Given the description of an element on the screen output the (x, y) to click on. 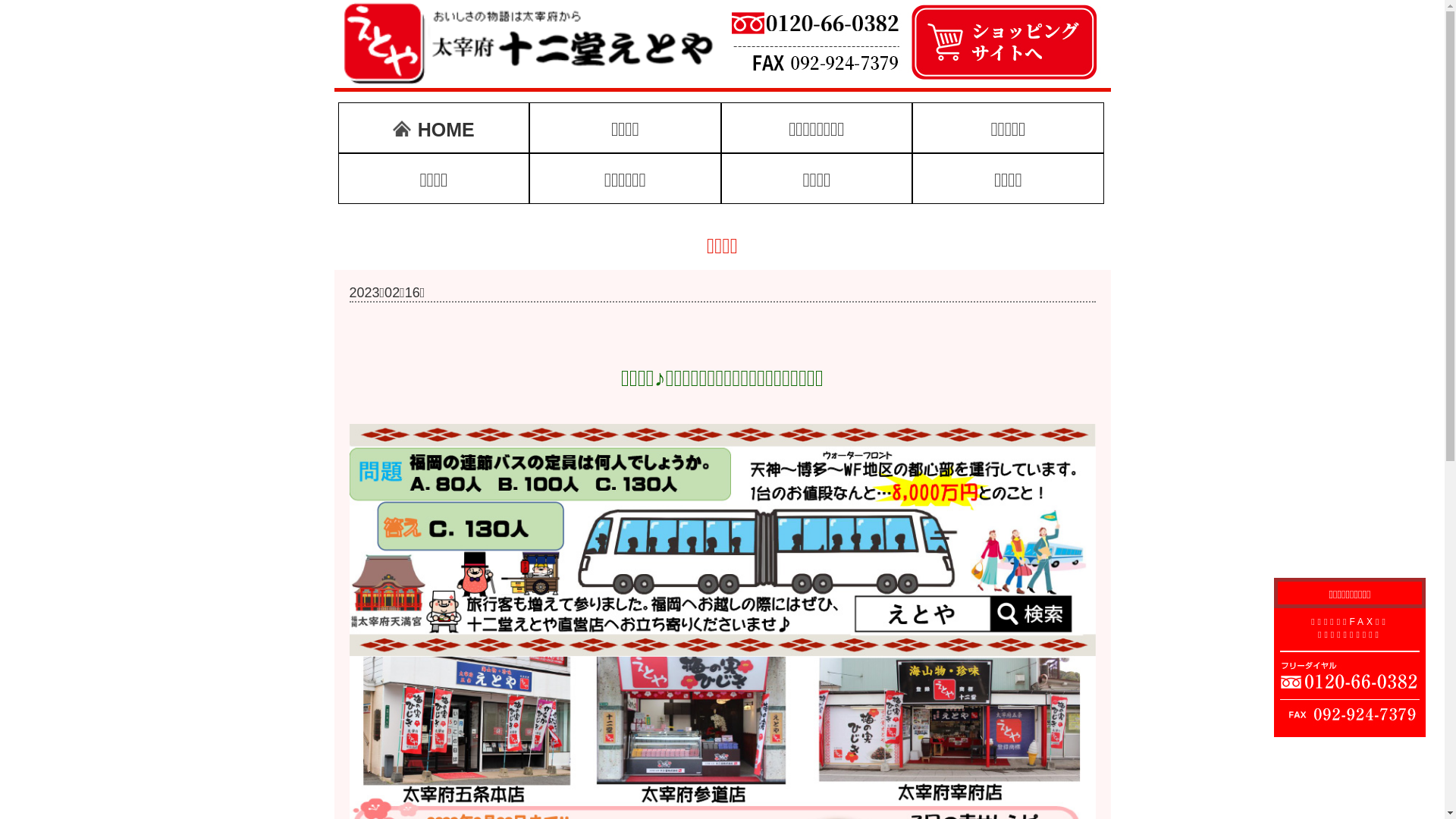
HOME Element type: text (434, 127)
